Given the description of an element on the screen output the (x, y) to click on. 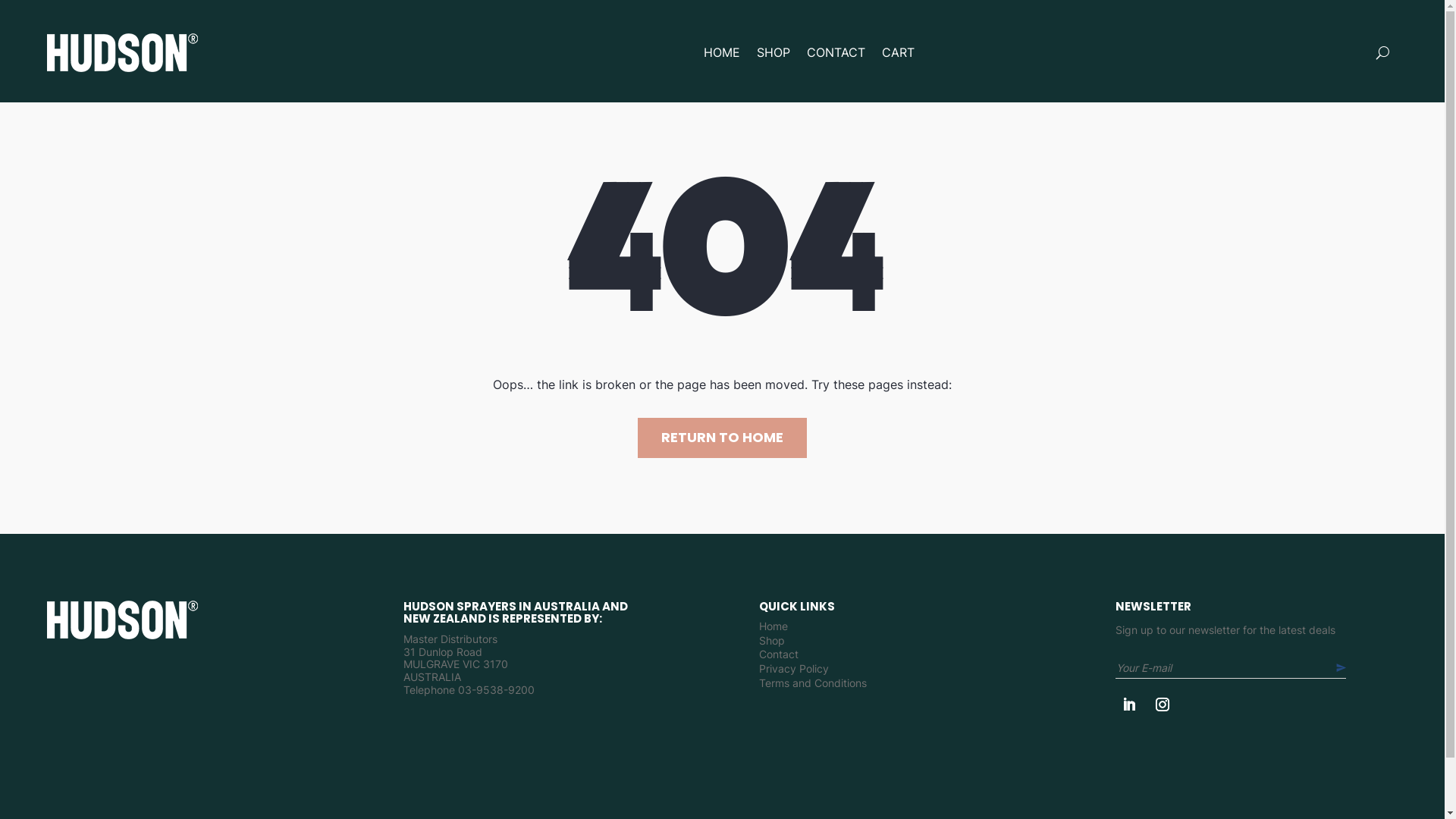
Contact Element type: text (778, 657)
logo Element type: hover (122, 619)
Shop Element type: text (771, 644)
SHOP Element type: text (773, 52)
RETURN TO HOME Element type: text (721, 437)
SUBMIT Element type: text (1349, 667)
Terms and Conditions Element type: text (812, 686)
Home Element type: text (773, 629)
CART Element type: text (897, 52)
CONTACT Element type: text (835, 52)
Follow on LinkedIn Element type: hover (1128, 704)
HOME Element type: text (721, 52)
Follow on Instagram Element type: hover (1162, 704)
Privacy Policy Element type: text (793, 672)
